Given the description of an element on the screen output the (x, y) to click on. 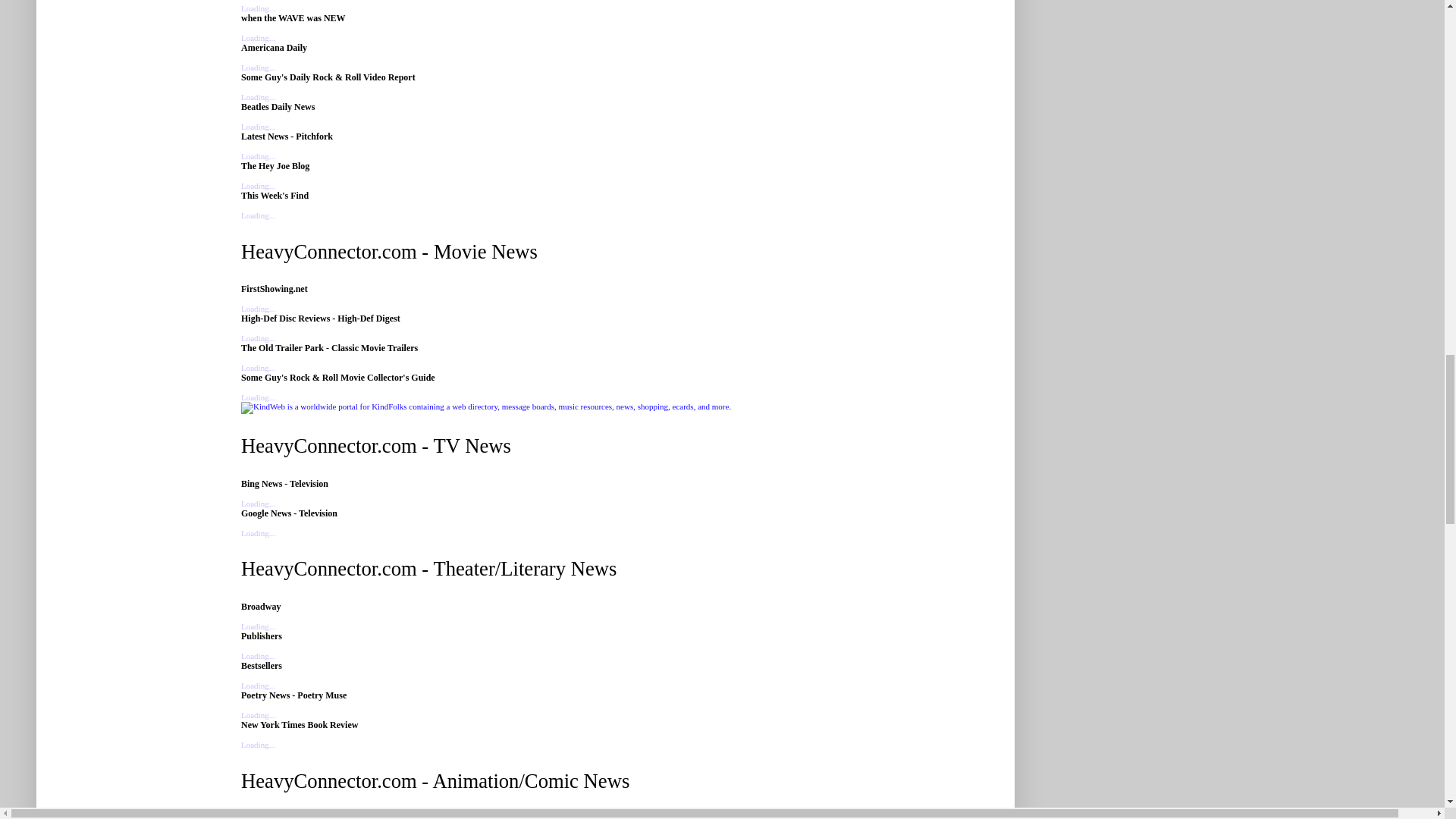
Loading... (258, 126)
Loading... (258, 397)
Loading... (258, 37)
Loading... (258, 155)
Loading... (258, 8)
Loading... (258, 367)
Loading... (258, 502)
Loading... (258, 625)
Loading... (258, 532)
Loading... (258, 338)
